Given the description of an element on the screen output the (x, y) to click on. 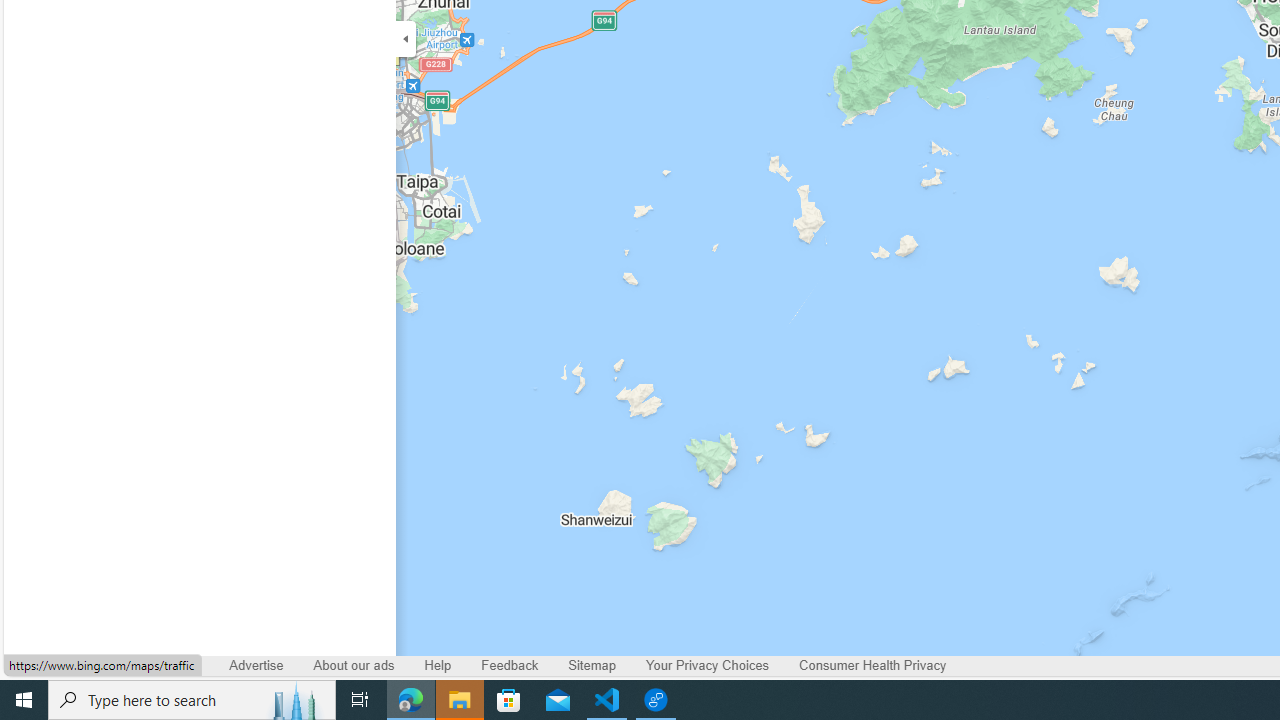
Sitemap (592, 665)
Advertise (256, 665)
Your Privacy Choices (708, 665)
Legal (182, 665)
